Given the description of an element on the screen output the (x, y) to click on. 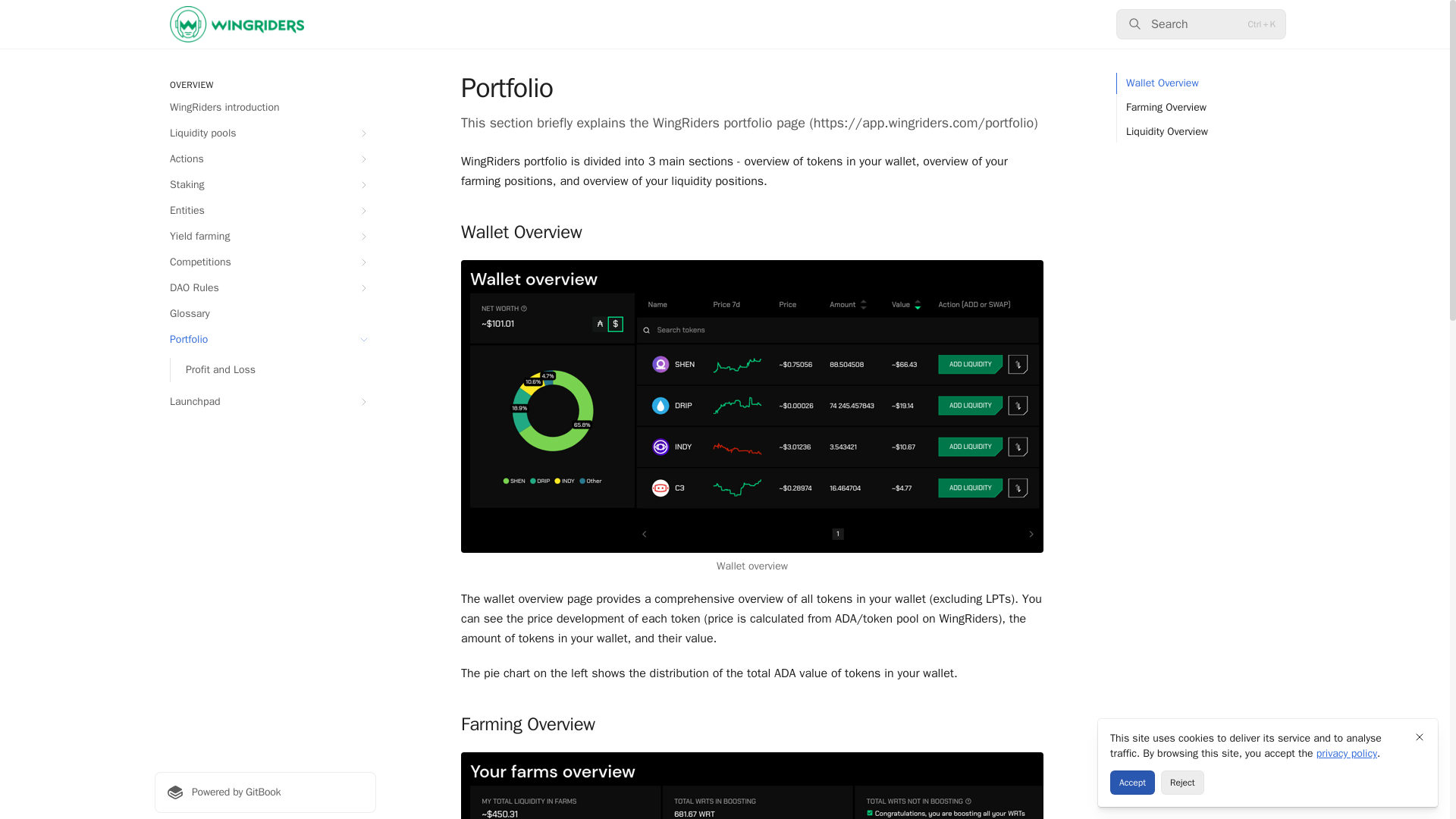
Close (1419, 737)
Launchpad (264, 401)
Competitions (264, 262)
DAO Rules (264, 288)
Liquidity pools (264, 133)
Profit and Loss (272, 369)
Glossary (264, 313)
Powered by GitBook (264, 792)
Entities (264, 210)
WingRiders introduction (264, 107)
Staking (264, 184)
Portfolio (264, 339)
Actions (264, 159)
Yield farming (264, 236)
